Given the description of an element on the screen output the (x, y) to click on. 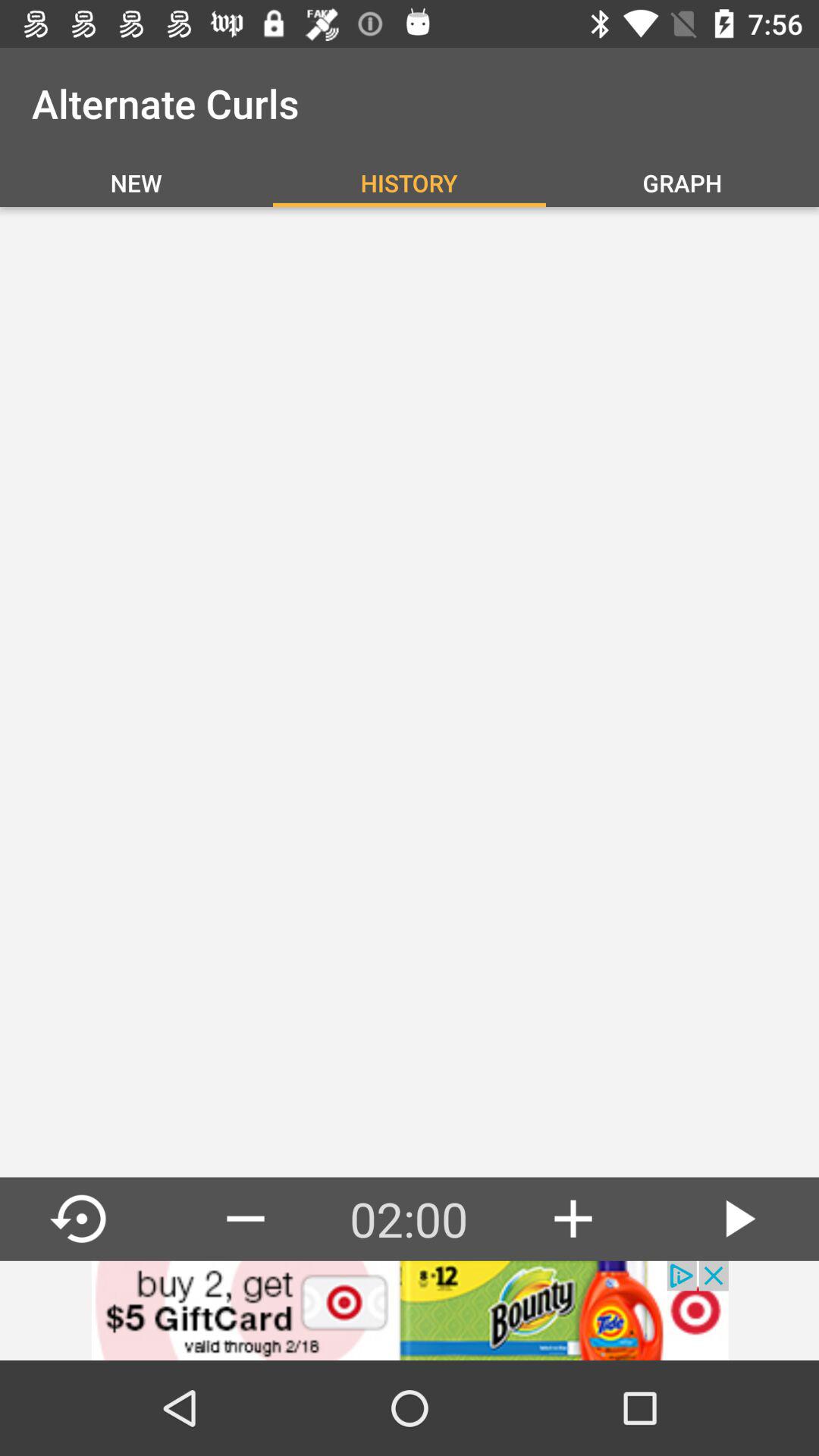
view advertisement (409, 1310)
